Given the description of an element on the screen output the (x, y) to click on. 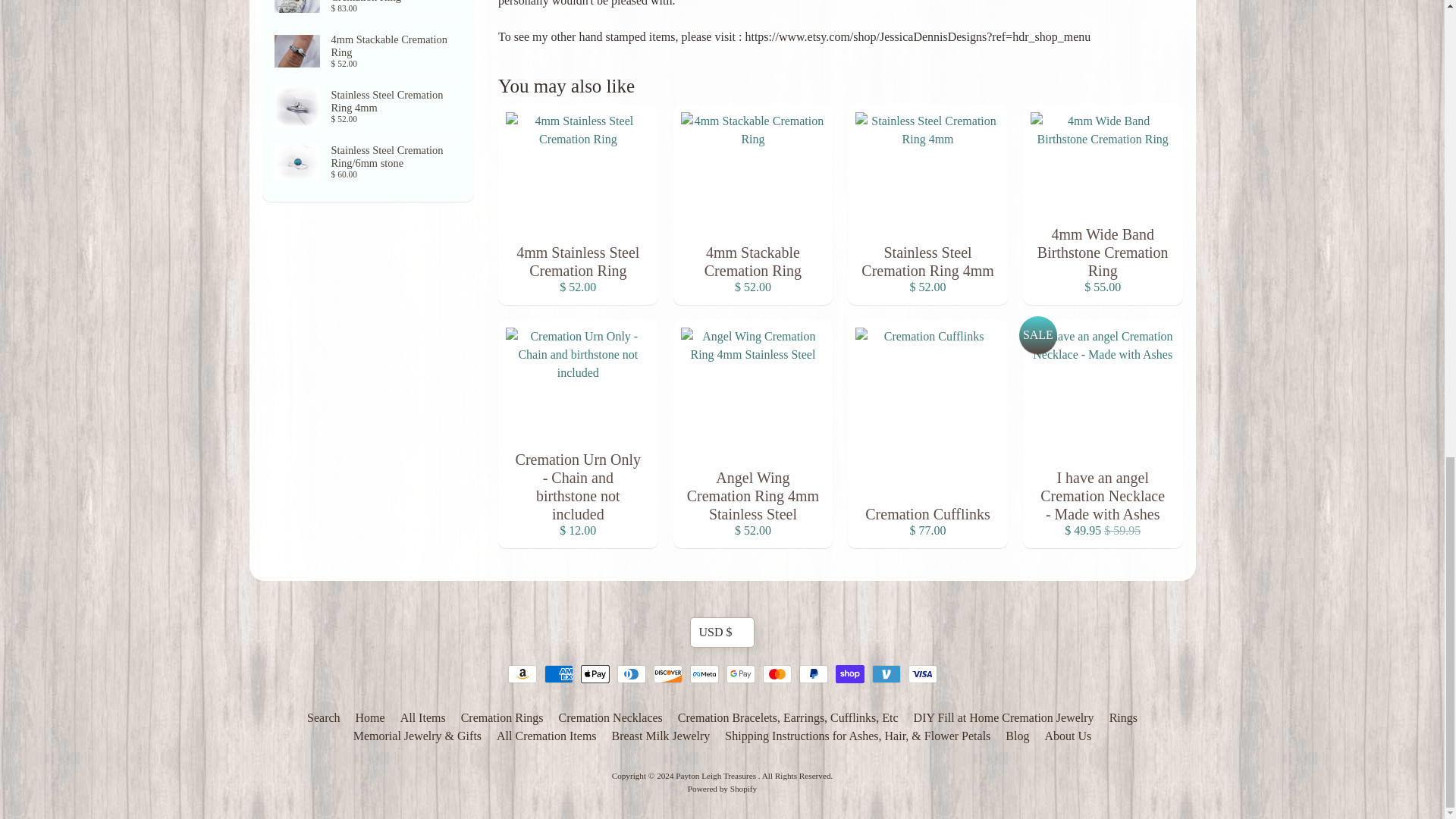
Discover (667, 674)
Apple Pay (595, 674)
PayPal (813, 674)
4mm Stackable Cremation Ring (369, 51)
Venmo (886, 674)
Stainless Steel Cremation Ring 4mm (369, 106)
Google Pay (740, 674)
Meta Pay (704, 674)
Shop Pay (849, 674)
Visa (922, 674)
